Given the description of an element on the screen output the (x, y) to click on. 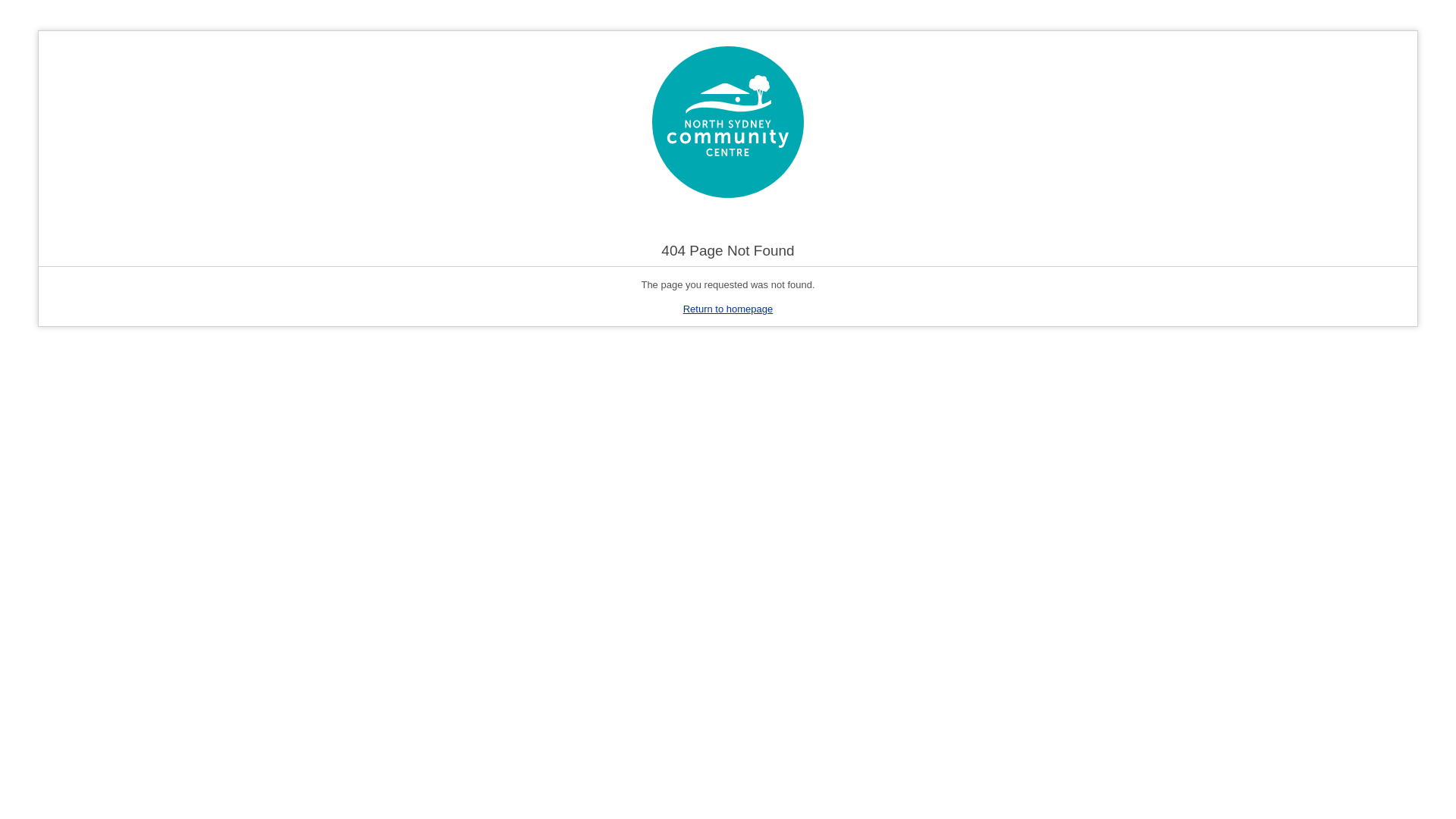
Return to homepage Element type: text (728, 308)
